Given the description of an element on the screen output the (x, y) to click on. 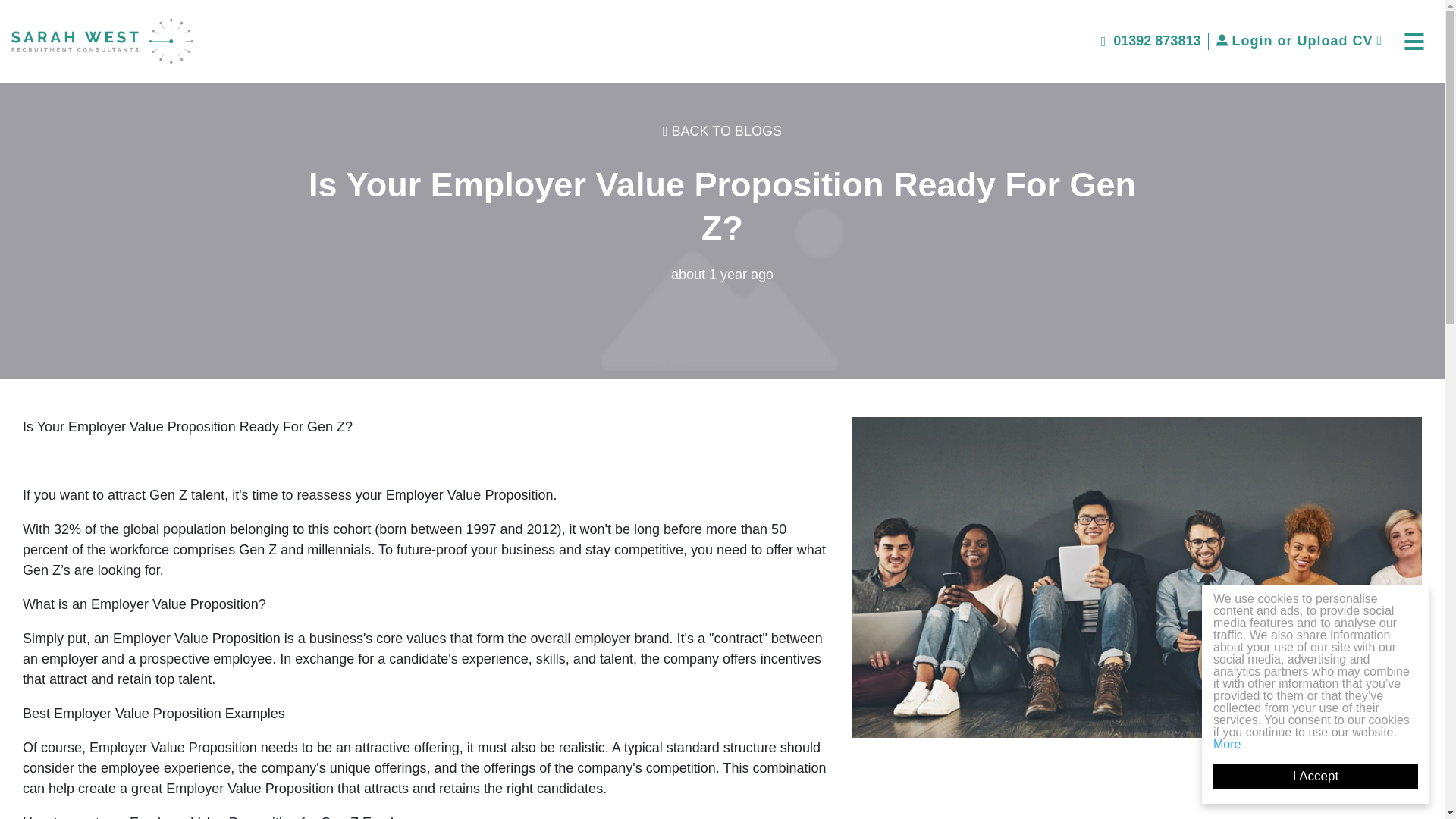
I Accept (1329, 775)
BACK TO BLOGS (721, 130)
Login or Upload CV (1298, 41)
More (1241, 744)
